Given the description of an element on the screen output the (x, y) to click on. 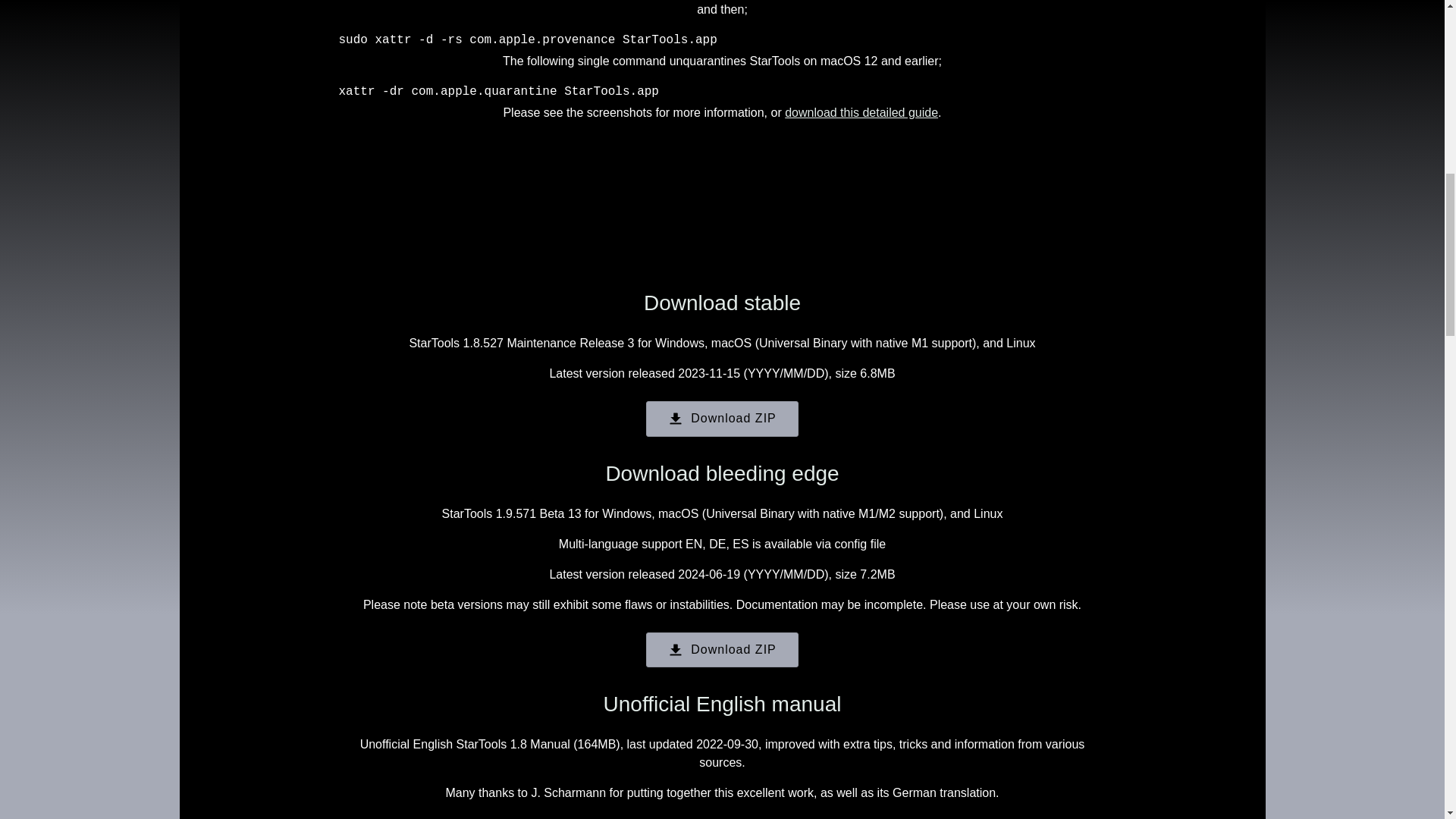
Unofficial English manual (722, 703)
Download stable (721, 302)
Download ZIP (721, 650)
Download ZIP (721, 418)
download this detailed guide (860, 112)
Download bleeding edge (721, 473)
